Given the description of an element on the screen output the (x, y) to click on. 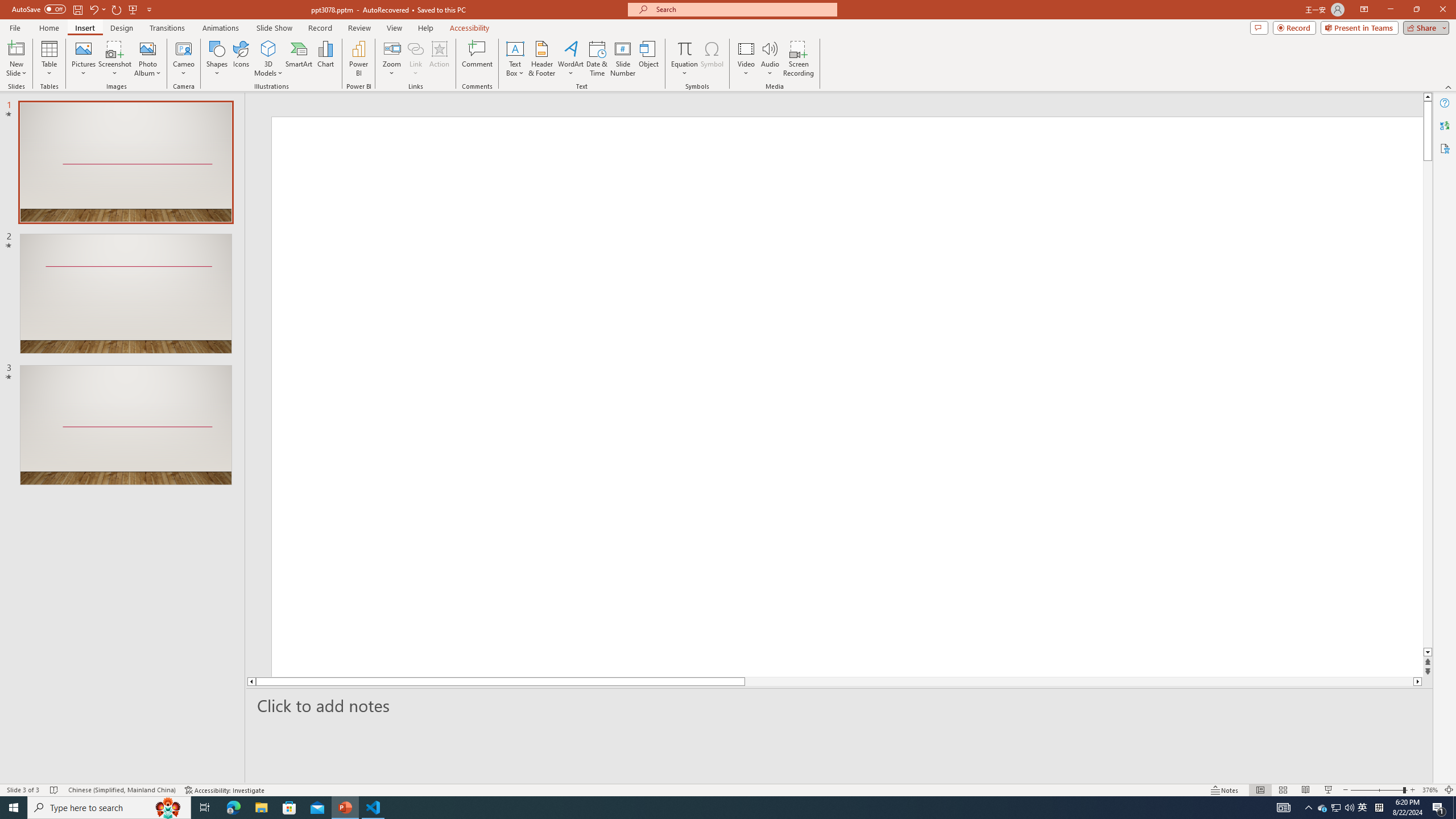
Audio (769, 58)
Action (439, 58)
3D Models (268, 48)
Header & Footer... (541, 58)
Video (745, 58)
Symbol... (711, 58)
Equation (683, 58)
